Given the description of an element on the screen output the (x, y) to click on. 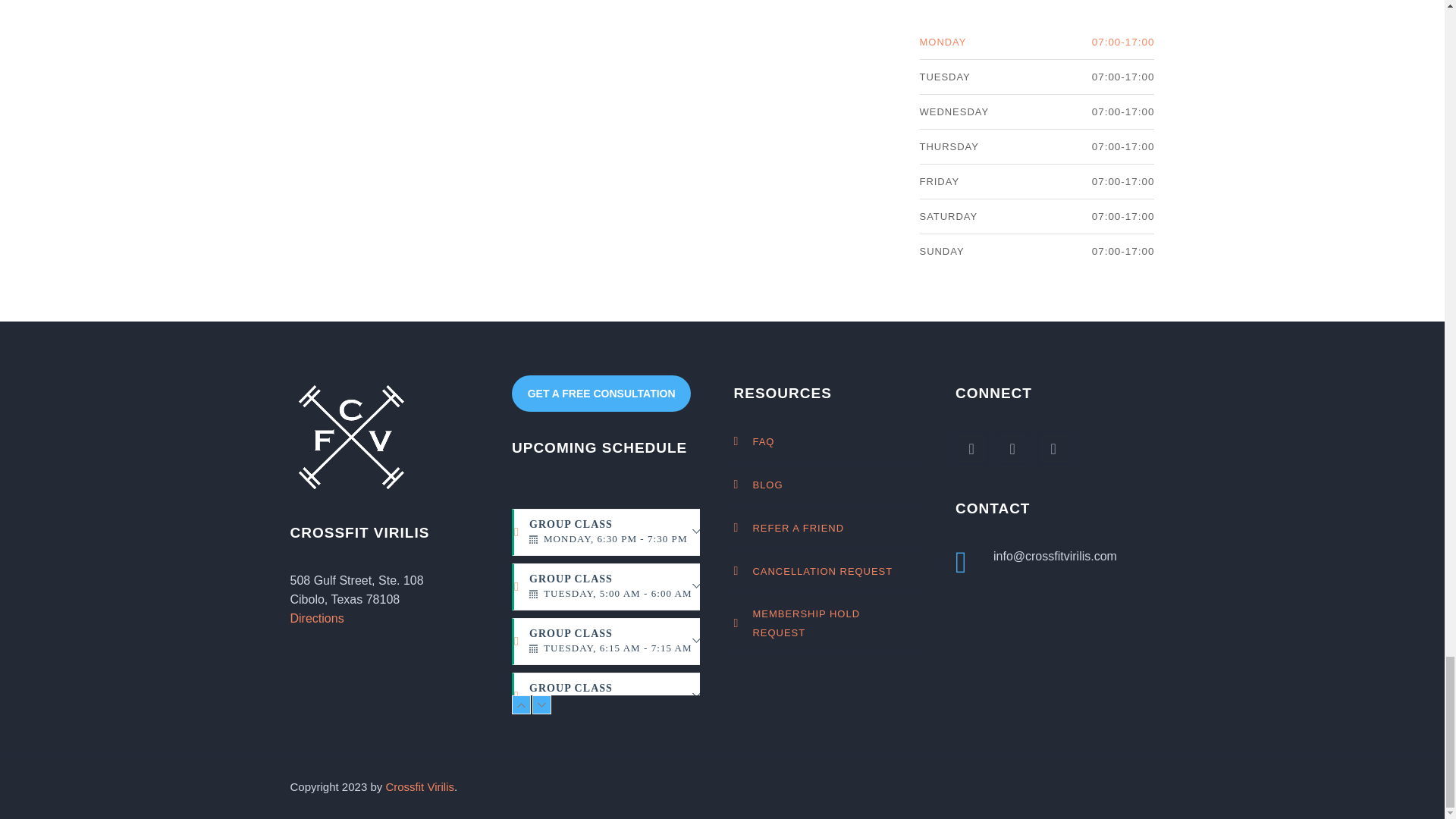
Twitter (971, 448)
Group Class (614, 532)
Group Class (614, 641)
Group Class (614, 695)
Instagram (1053, 448)
Facebook (1012, 448)
Group Class (614, 586)
Crossfit Virilis (419, 786)
